Given the description of an element on the screen output the (x, y) to click on. 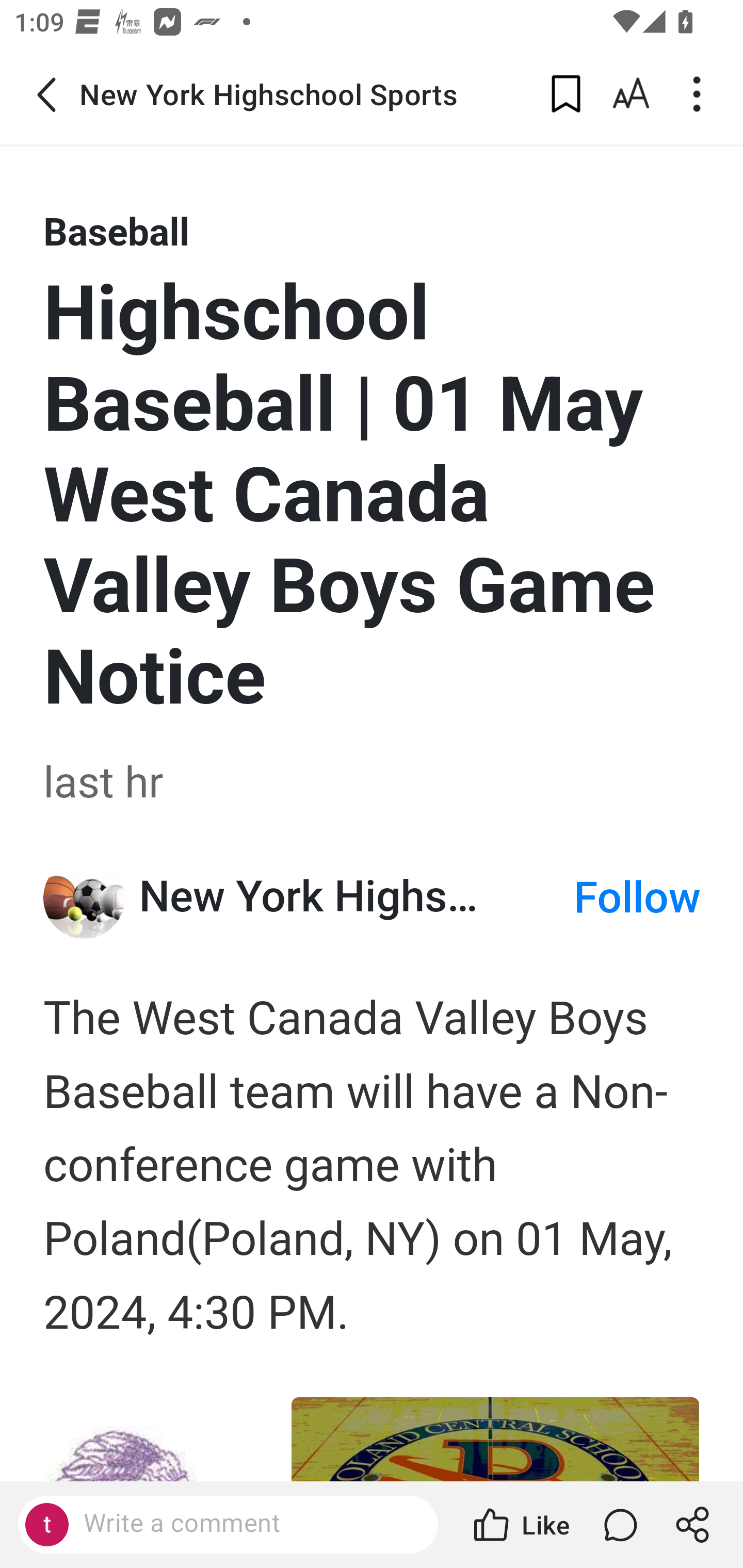
New (84, 897)
New York Highschool Sports (355, 896)
Follow (637, 898)
Like (519, 1524)
Write a comment (227, 1524)
Write a comment (245, 1523)
